Given the description of an element on the screen output the (x, y) to click on. 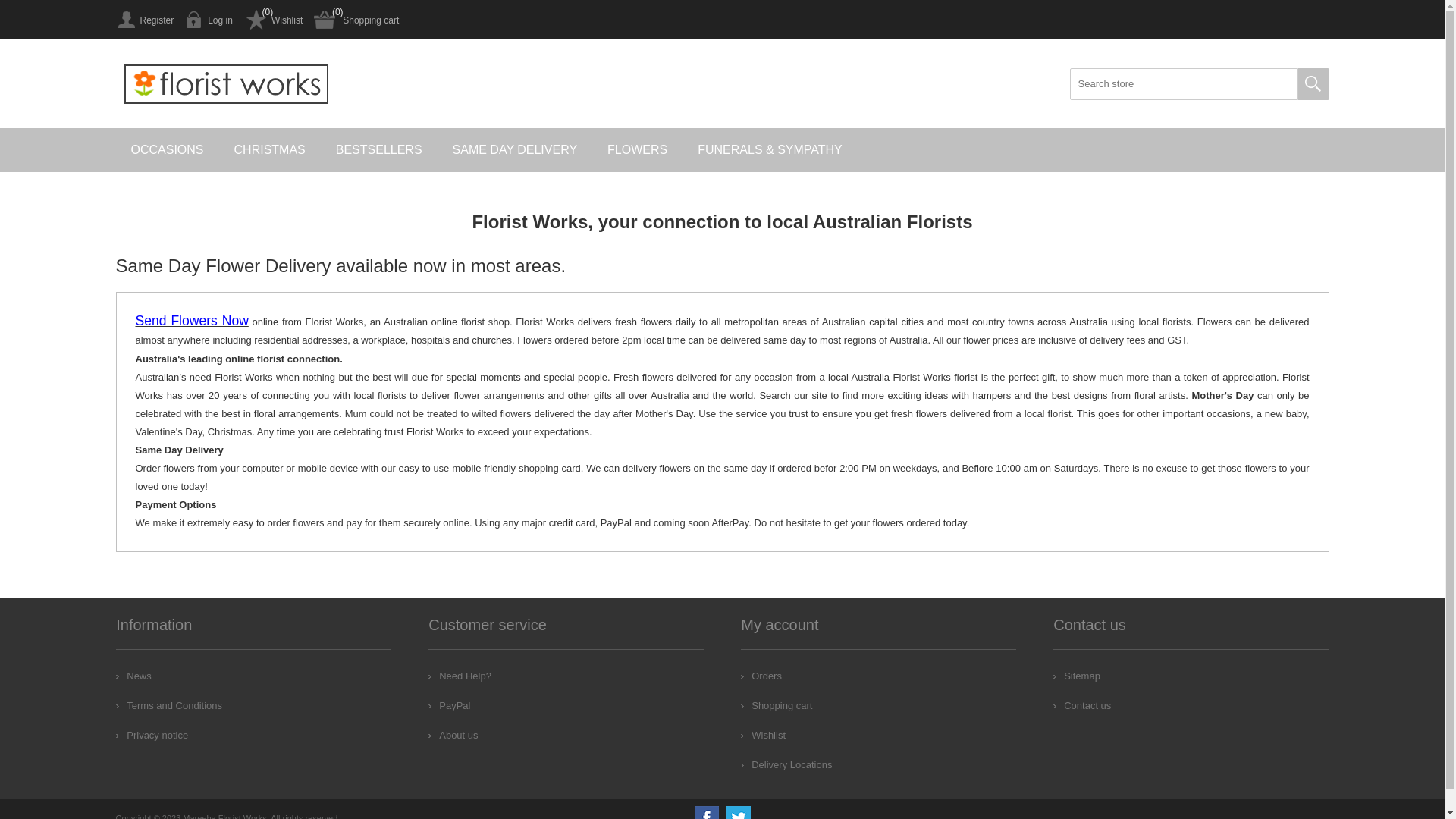
PayPal Element type: text (449, 705)
Shopping cart Element type: text (355, 19)
FLOWERS Element type: text (637, 150)
Privacy notice Element type: text (152, 734)
CHRISTMAS Element type: text (269, 150)
Sitemap Element type: text (1076, 675)
FUNERALS & SYMPATHY Element type: text (769, 150)
Contact us Element type: text (1081, 705)
Register Element type: text (144, 19)
Wishlist Element type: text (762, 734)
Search Element type: text (1312, 84)
Log in Element type: text (208, 19)
News Element type: text (133, 675)
Shopping cart Element type: text (776, 705)
Send Flowers Now Element type: text (190, 321)
Orders Element type: text (760, 675)
SAME DAY DELIVERY Element type: text (515, 150)
About us Element type: text (452, 734)
Delivery Locations Element type: text (785, 764)
BESTSELLERS Element type: text (378, 150)
Wishlist Element type: text (273, 19)
Terms and Conditions Element type: text (169, 705)
OCCASIONS Element type: text (166, 150)
Need Help? Element type: text (459, 675)
